Given the description of an element on the screen output the (x, y) to click on. 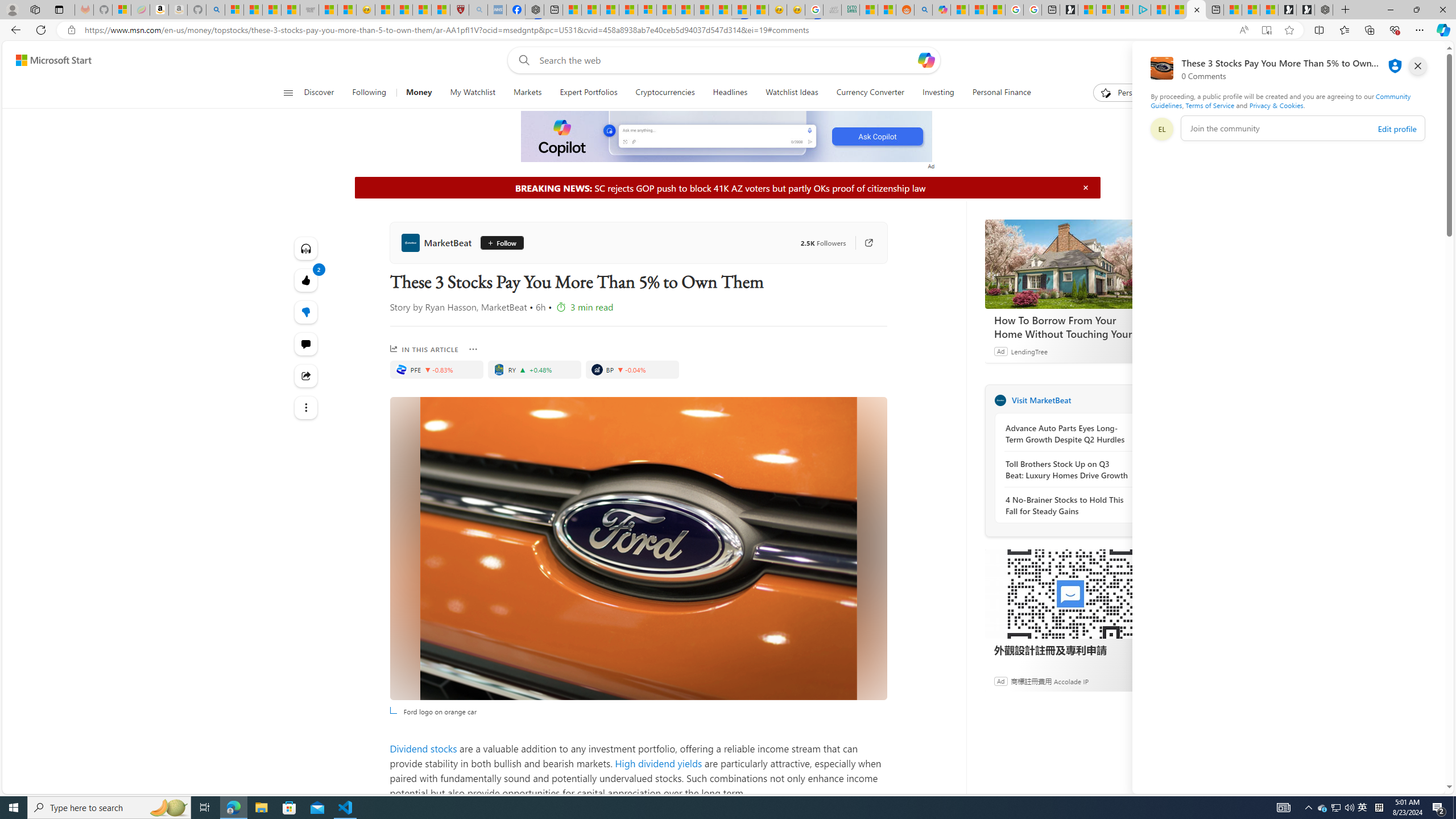
Personal Finance (1001, 92)
High dividend yields (657, 762)
